Given the description of an element on the screen output the (x, y) to click on. 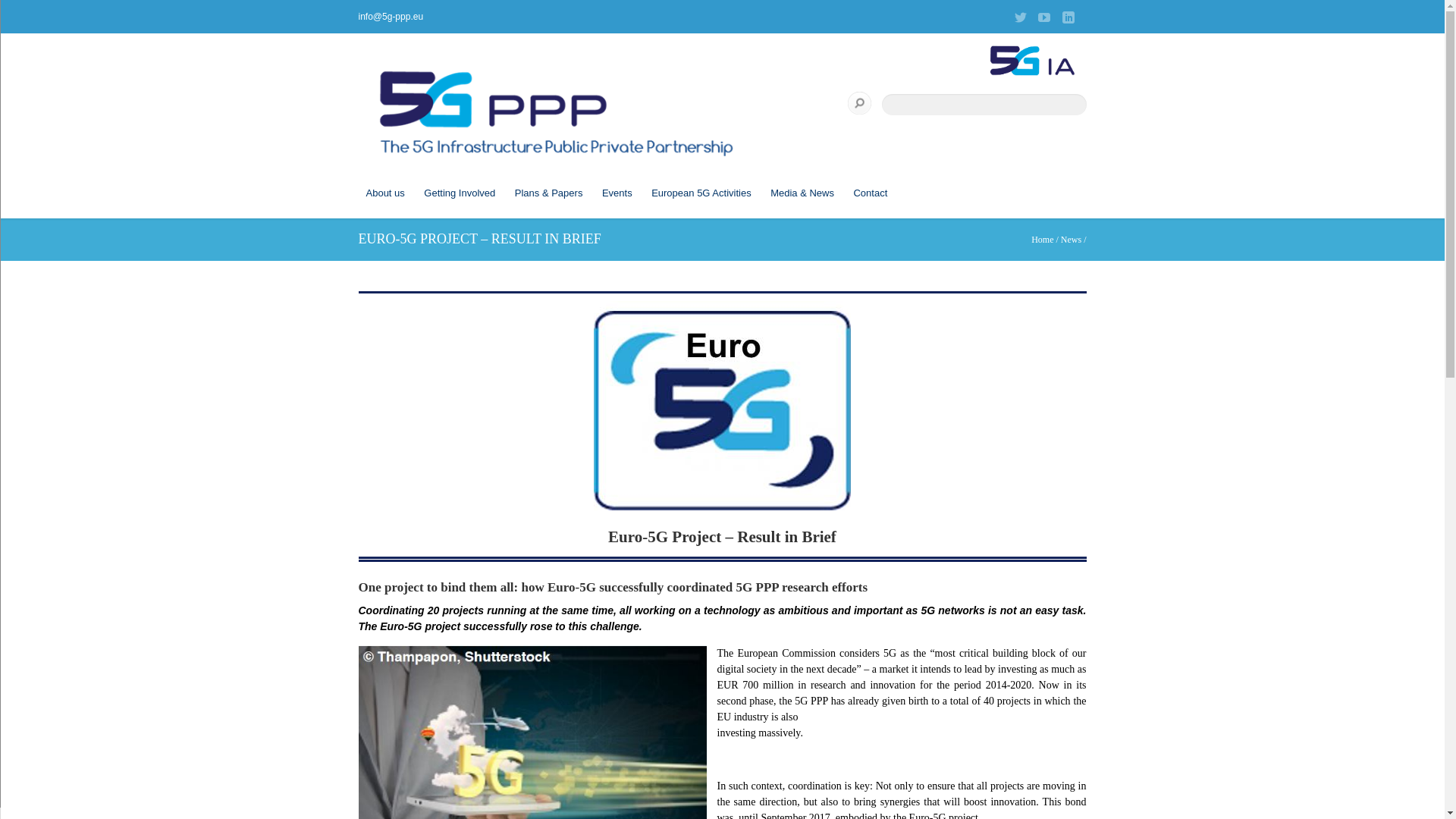
Linkedin (1067, 17)
Youtube (1043, 17)
